Given the description of an element on the screen output the (x, y) to click on. 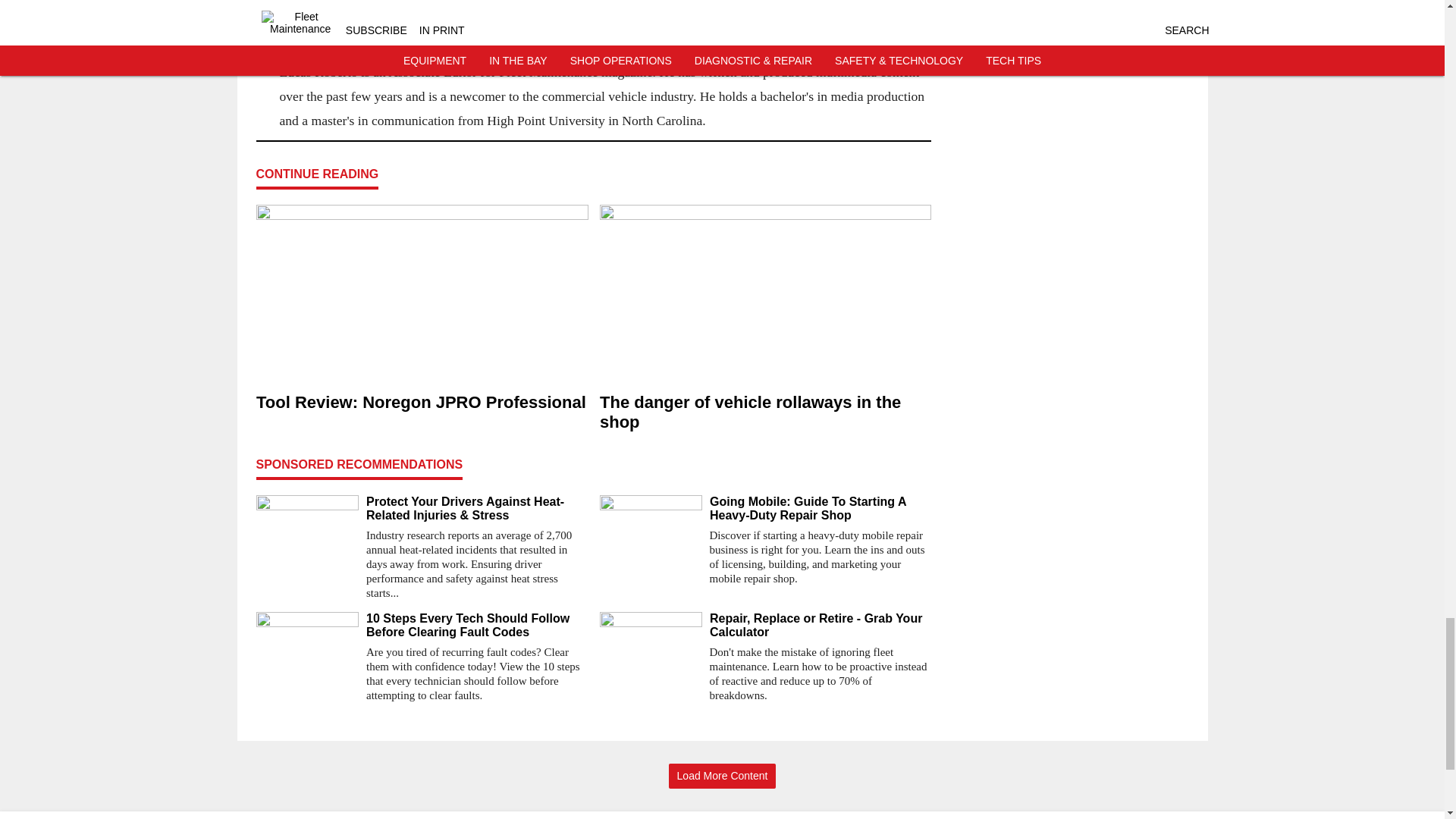
Repair, Replace or Retire - Grab Your Calculator (820, 625)
Tool Review: Noregon JPRO Professional (422, 402)
The danger of vehicle rollaways in the shop (764, 412)
Going Mobile: Guide To Starting A Heavy-Duty Repair Shop (820, 508)
